Given the description of an element on the screen output the (x, y) to click on. 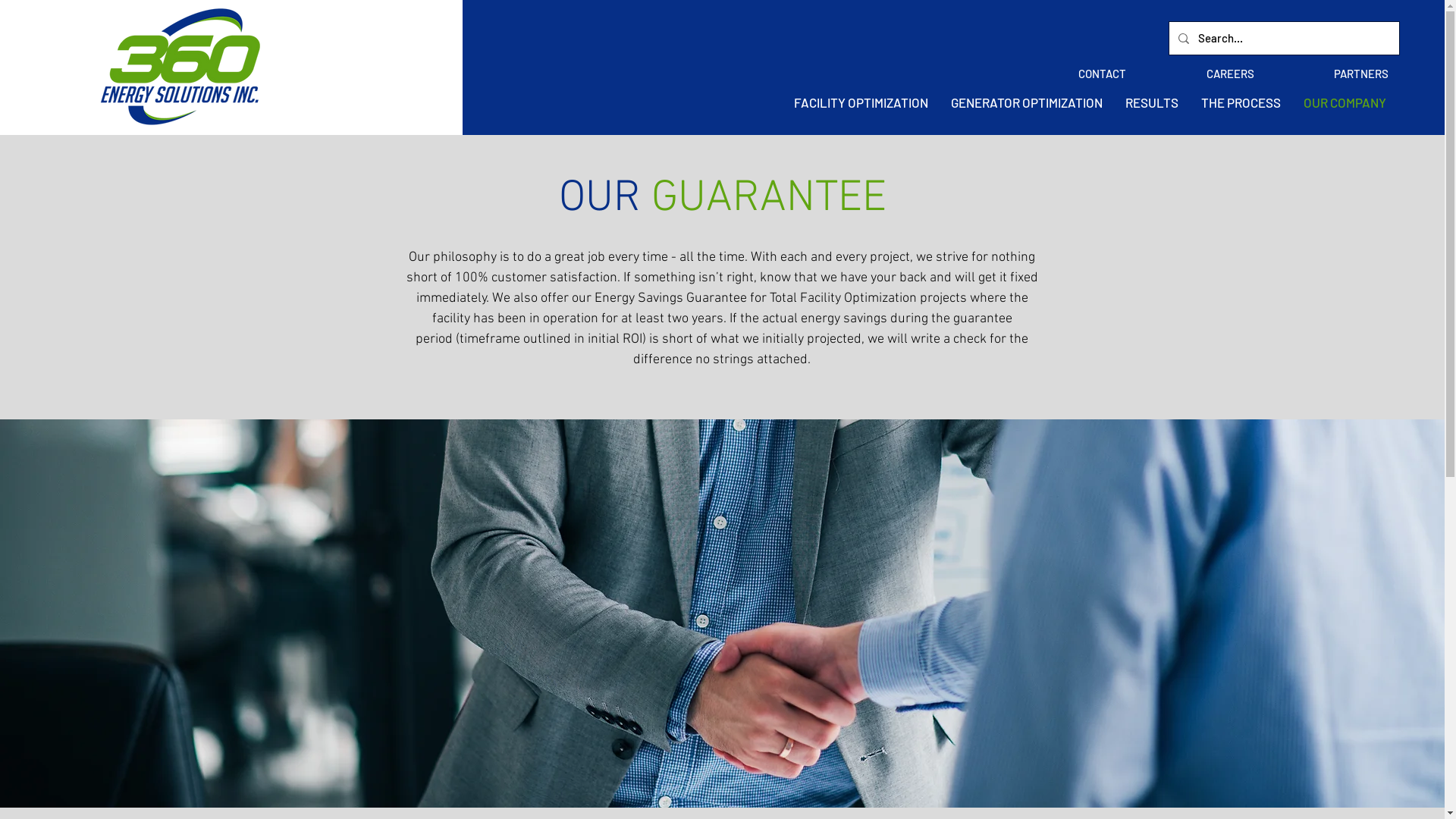
OUR COMPANY Element type: text (1344, 102)
PARTNERS Element type: text (1332, 73)
RESULTS Element type: text (1151, 102)
FACILITY OPTIMIZATION Element type: text (860, 102)
GENERATOR OPTIMIZATION Element type: text (1026, 102)
THE PROCESS Element type: text (1240, 102)
CONTACT Element type: text (1073, 73)
CAREERS Element type: text (1201, 73)
